Given the description of an element on the screen output the (x, y) to click on. 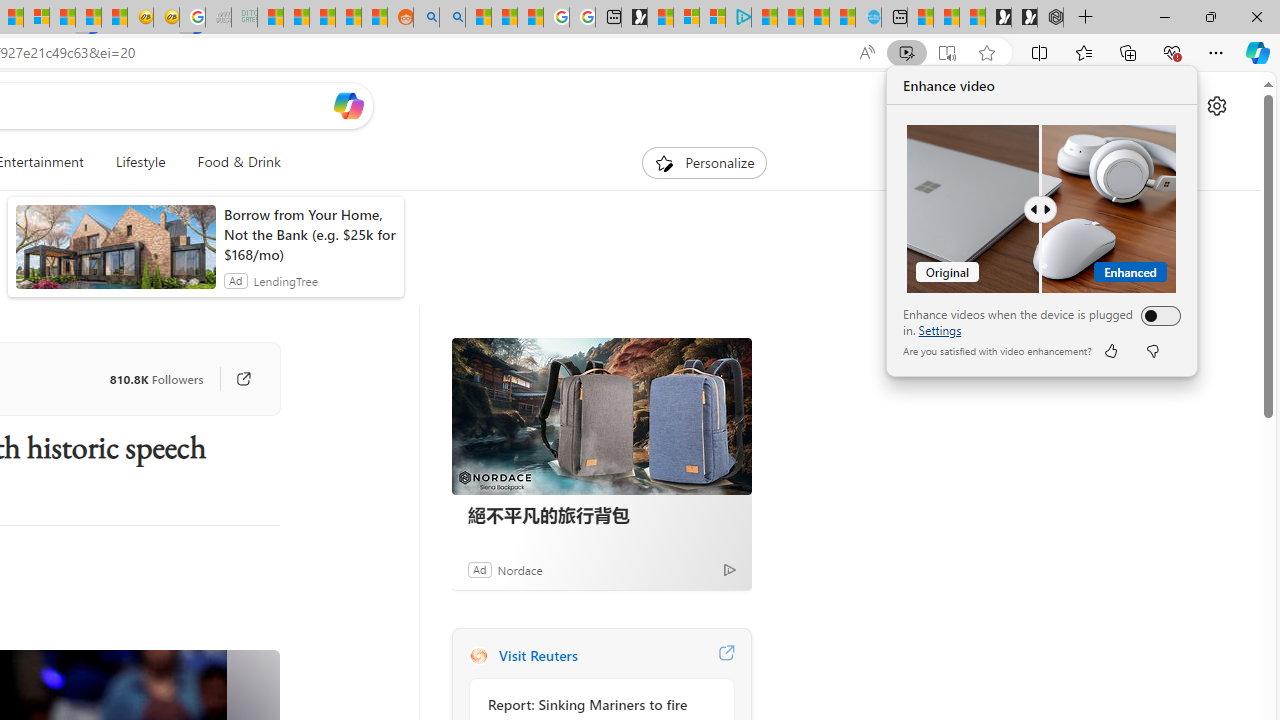
dislike (1152, 350)
Visit Reuters website (726, 655)
Like (1110, 350)
LendingTree (285, 280)
Comparision (1041, 209)
anim-content (115, 255)
